Given the description of an element on the screen output the (x, y) to click on. 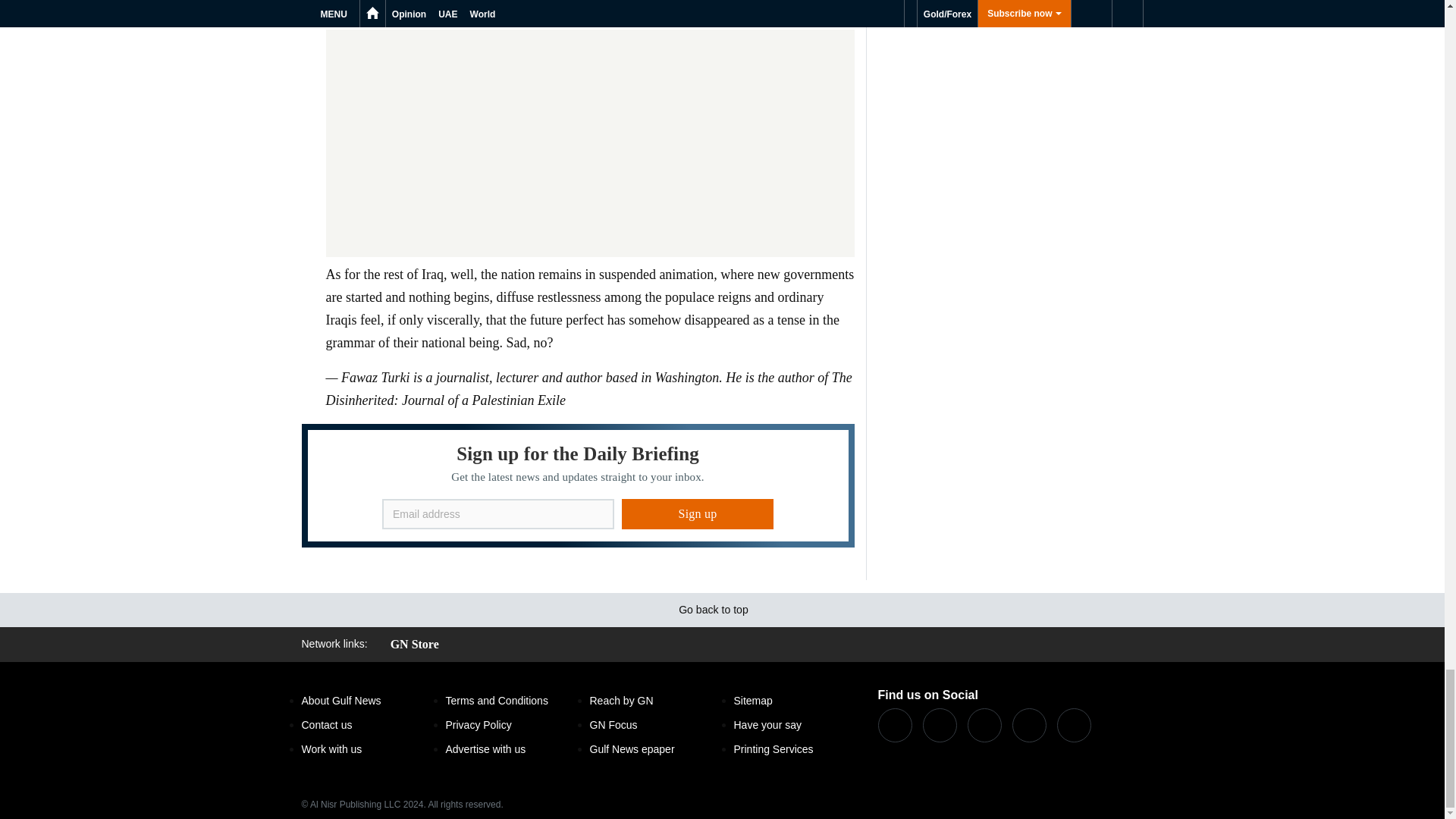
Sign up for the Daily Briefing (577, 485)
